Given the description of an element on the screen output the (x, y) to click on. 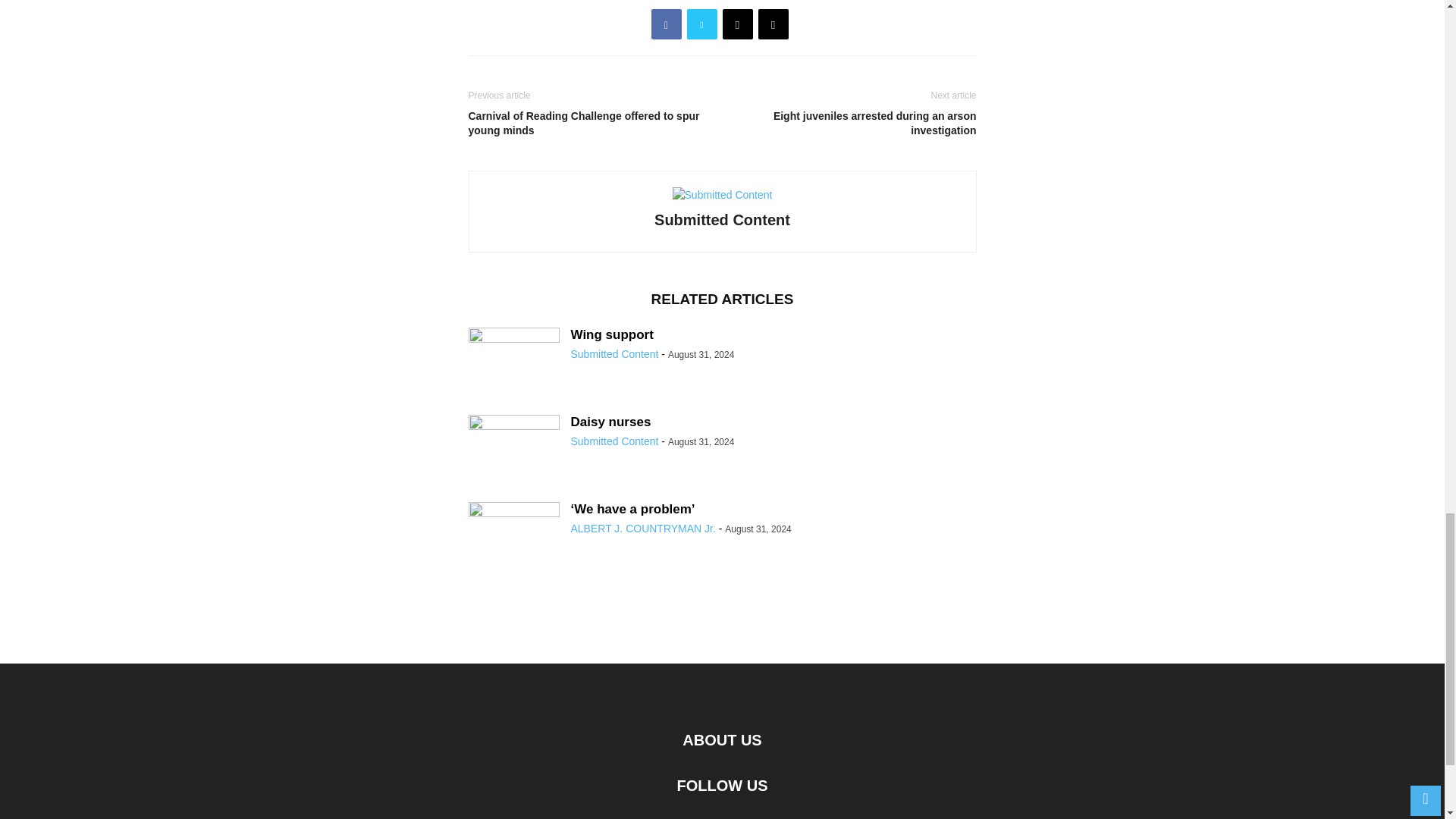
Carnival of Reading Challenge offered to spur young minds (591, 123)
Wing support (611, 334)
Wing support (513, 361)
Submitted Content (614, 440)
Print (773, 24)
Twitter (702, 24)
Daisy nurses (610, 421)
Wing support (611, 334)
ALBERT J. COUNTRYMAN Jr. (642, 528)
Eight juveniles arrested during an arson investigation (852, 123)
